Given the description of an element on the screen output the (x, y) to click on. 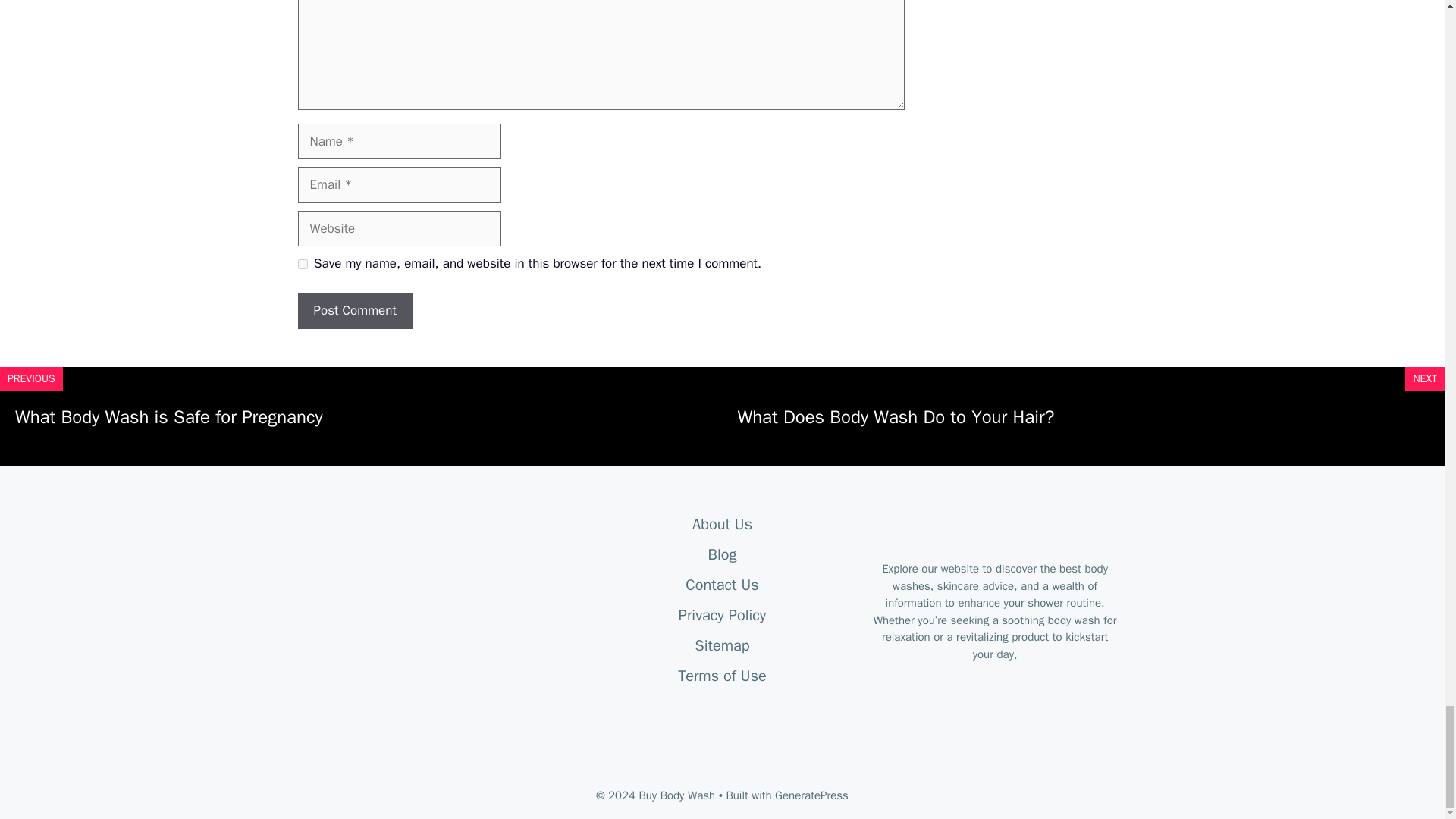
Post Comment (354, 310)
yes (302, 264)
Post Comment (354, 310)
What Body Wash is Safe for Pregnancy (168, 416)
